Given the description of an element on the screen output the (x, y) to click on. 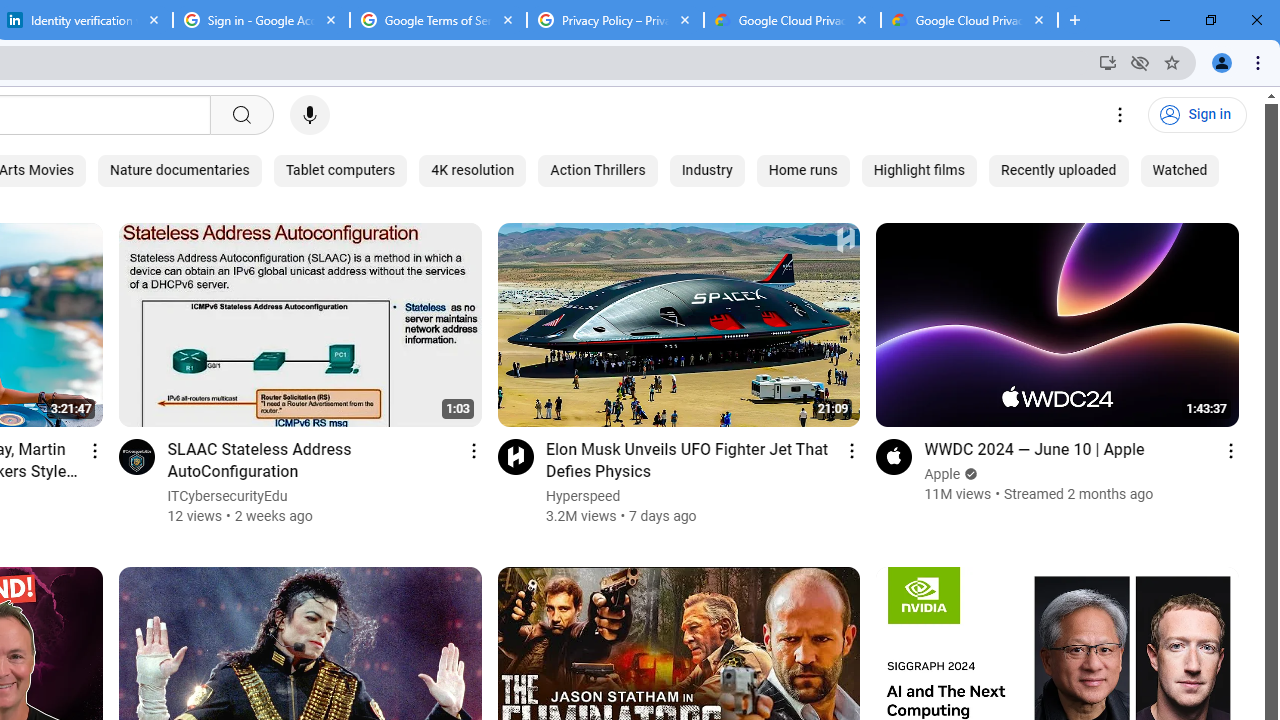
Search with your voice (309, 115)
Google Cloud Privacy Notice (969, 20)
Google Cloud Privacy Notice (792, 20)
Hyperspeed (583, 496)
Verified (969, 474)
Nature documentaries (180, 170)
4K resolution (472, 170)
Search (240, 115)
ITCybersecurityEdu (227, 496)
Home runs (802, 170)
